Given the description of an element on the screen output the (x, y) to click on. 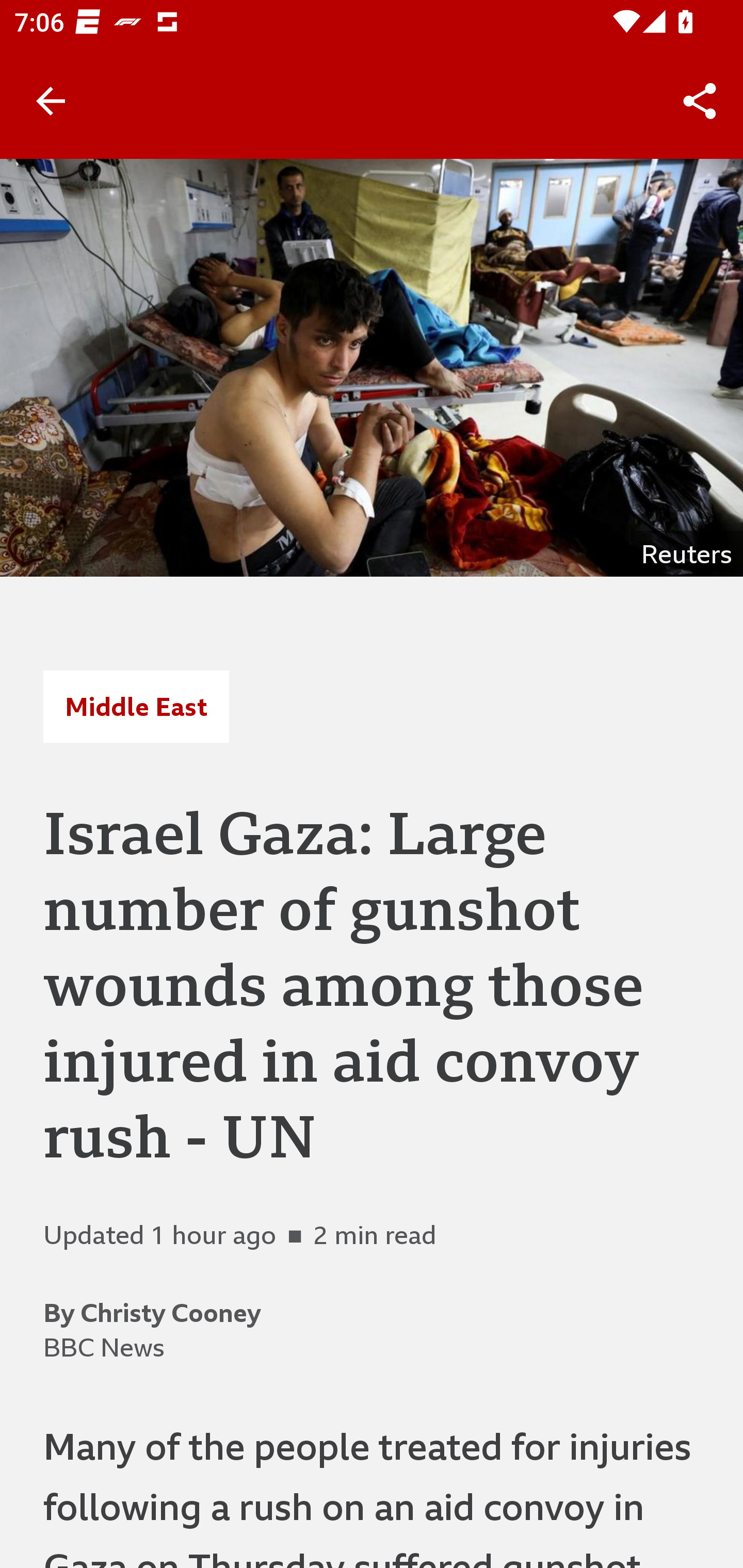
Back (50, 101)
Share (699, 101)
Middle East (135, 706)
